Given the description of an element on the screen output the (x, y) to click on. 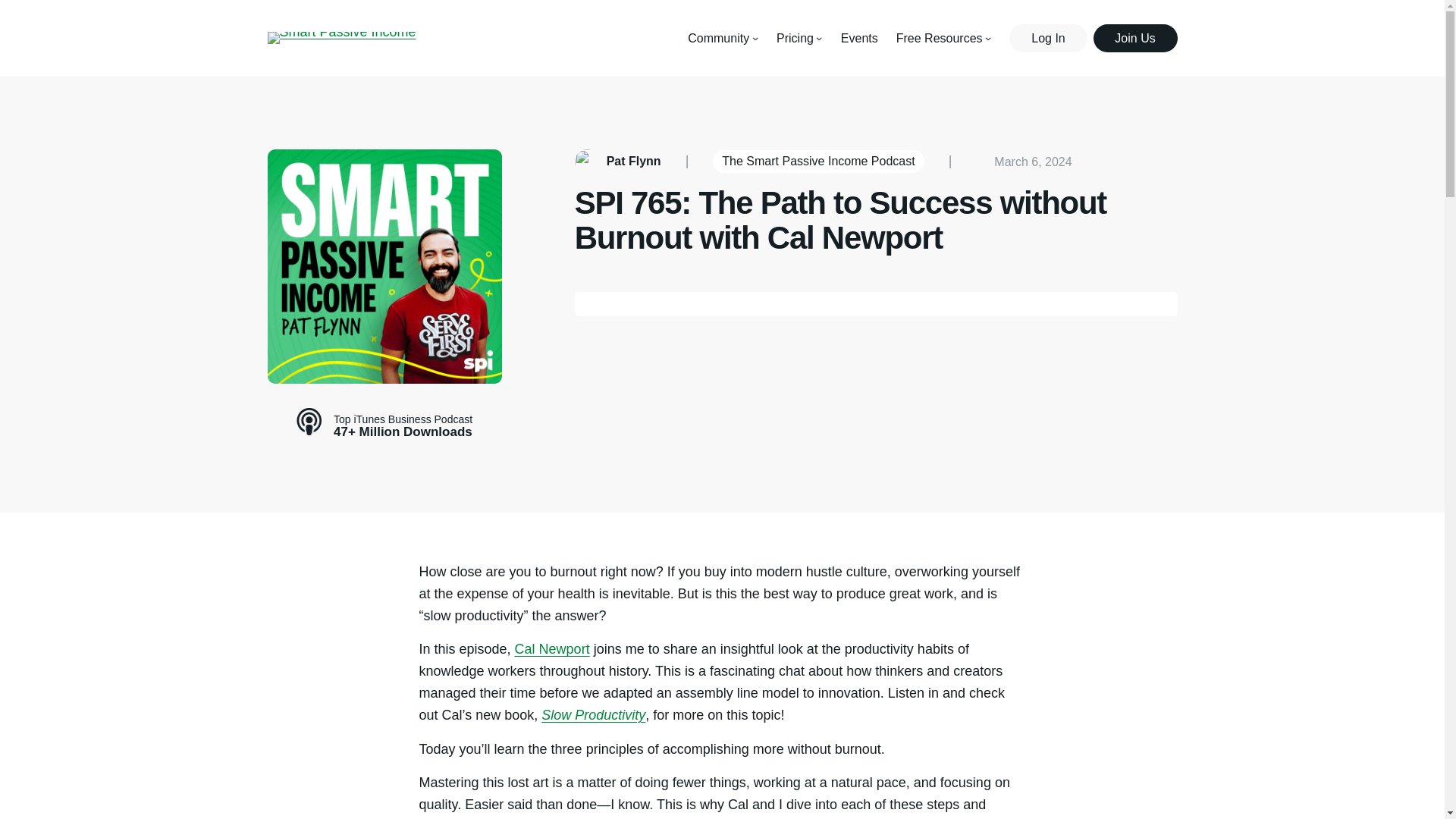
Community (718, 38)
Log In (1047, 38)
Cal Newport (552, 648)
Events (859, 38)
The Smart Passive Income Podcast (818, 160)
Join Us (1135, 38)
Pricing (794, 38)
Free Resources (939, 38)
Slow Productivity (593, 714)
